Given the description of an element on the screen output the (x, y) to click on. 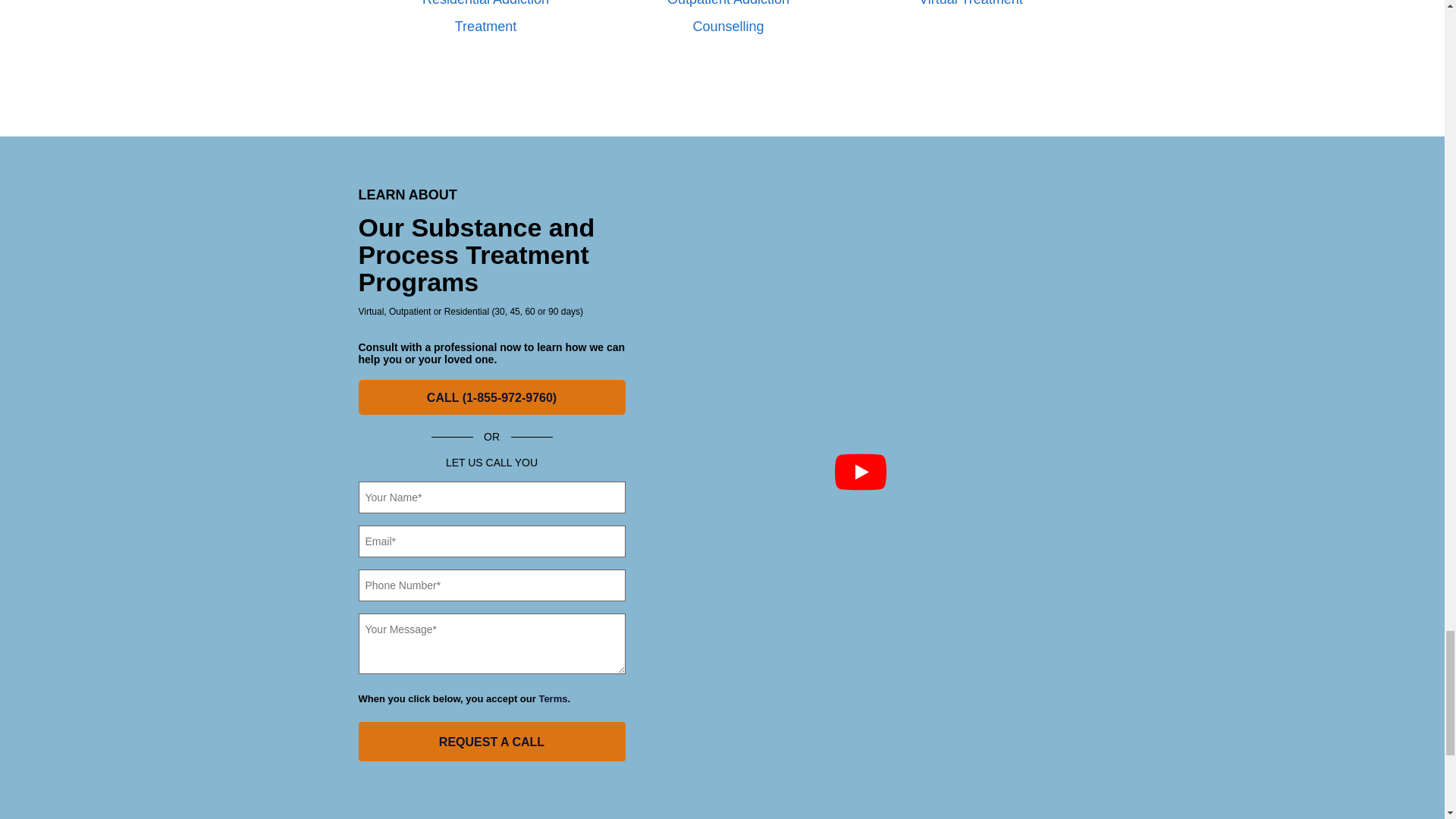
This is a link to Inpatient Treatment page (485, 16)
This is a link to Outpatient Treatment page (727, 16)
This is a link to Virtual Treatment page (970, 2)
